Given the description of an element on the screen output the (x, y) to click on. 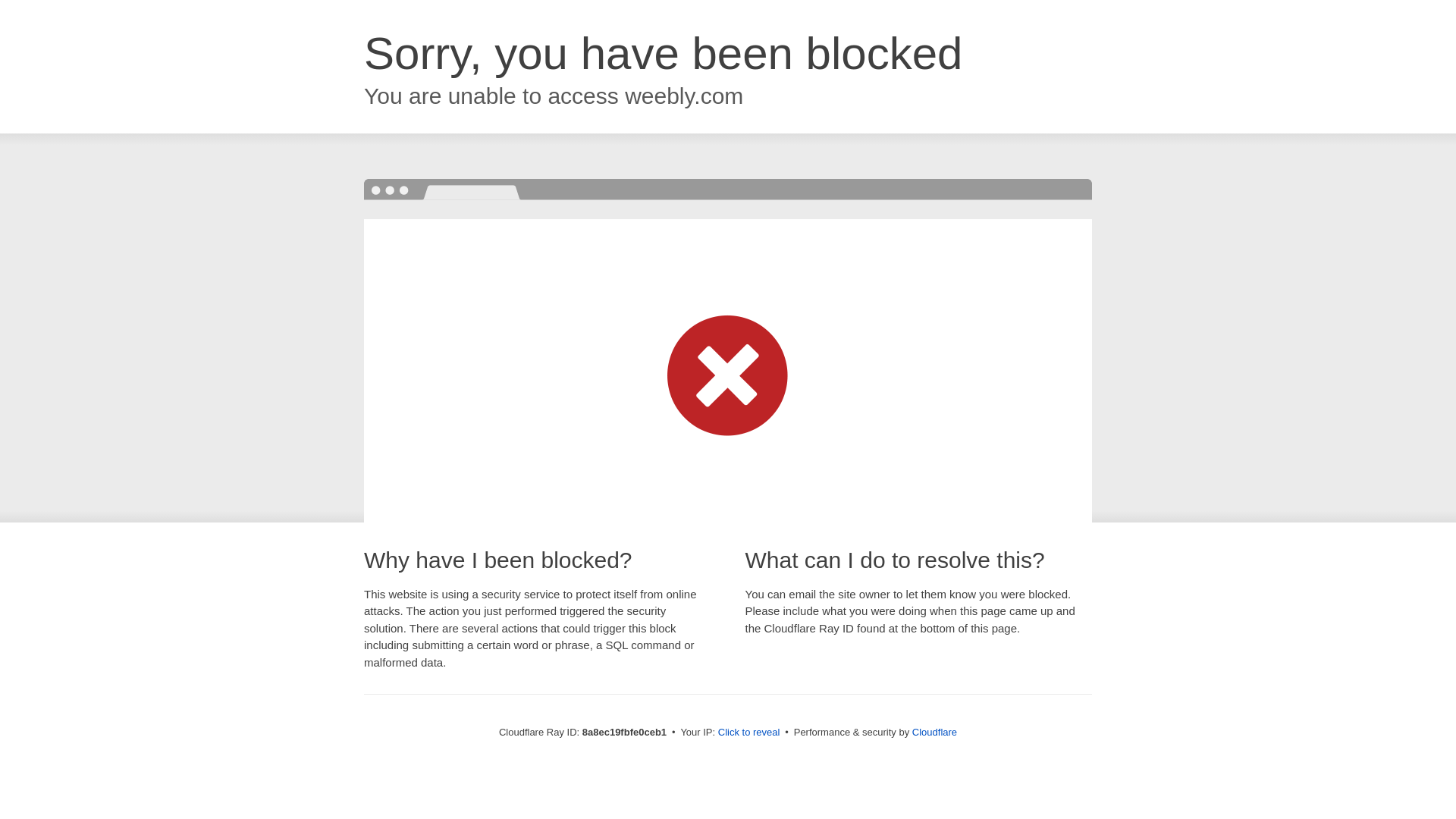
Cloudflare (934, 731)
Click to reveal (748, 732)
